Given the description of an element on the screen output the (x, y) to click on. 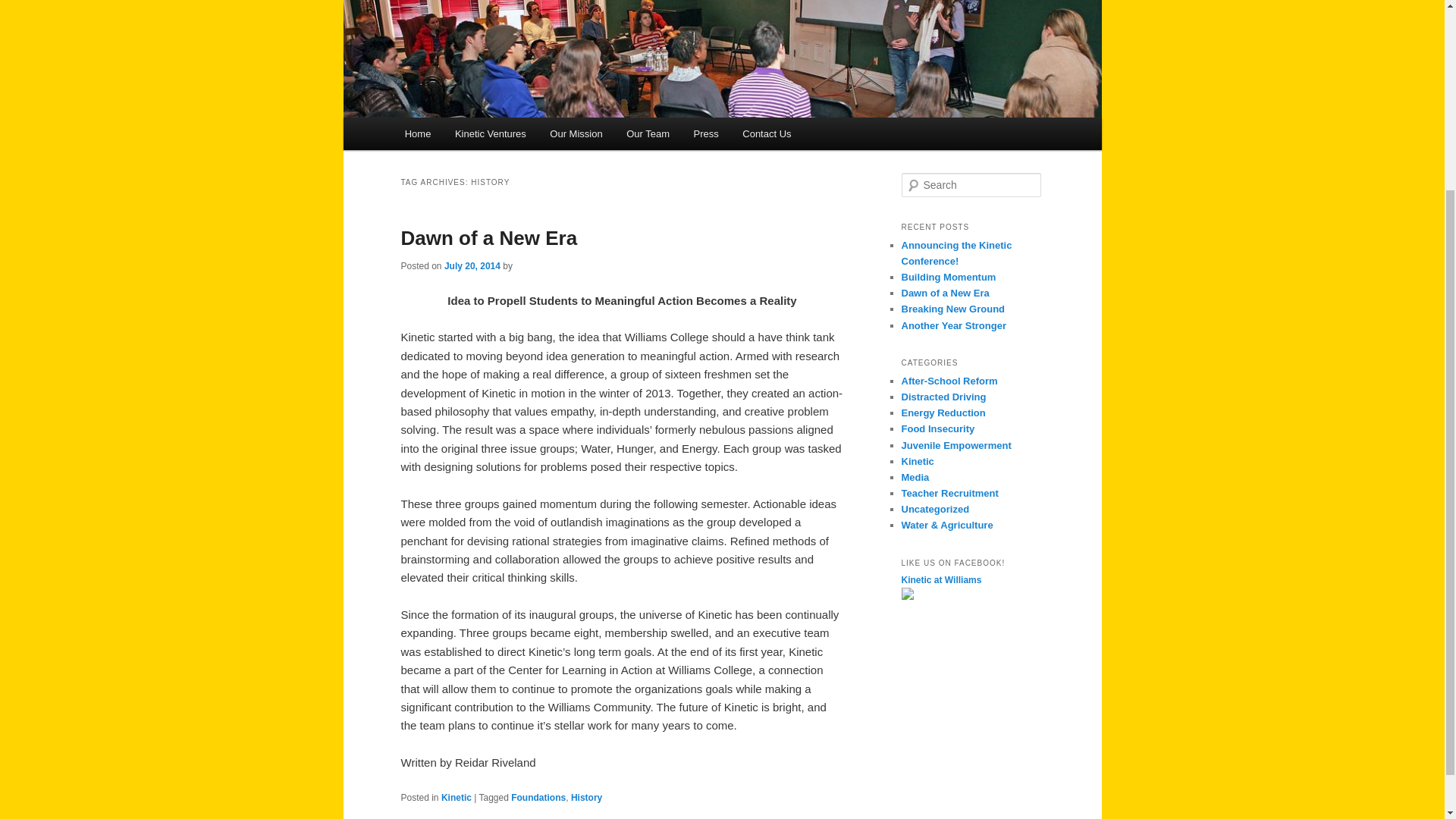
Contact Us (766, 133)
Announcing the Kinetic Conference! (956, 252)
Kinetic Ventures (489, 133)
July 20, 2014 (472, 266)
Another Year Stronger (953, 325)
Kinetic at Williams (941, 579)
Energy Reduction (943, 412)
Home (417, 133)
Food Insecurity (937, 428)
Building Momentum (948, 276)
